Given the description of an element on the screen output the (x, y) to click on. 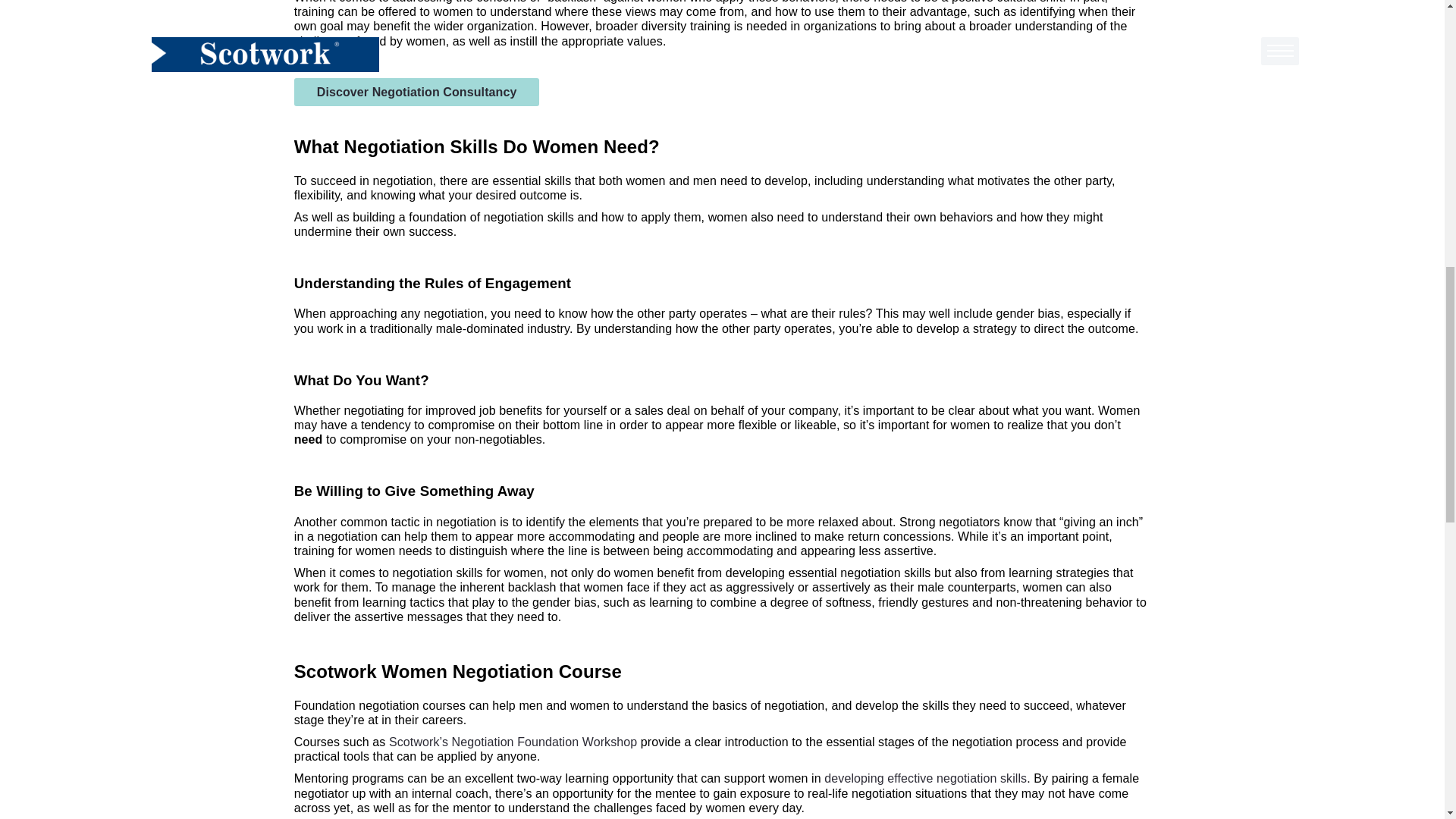
Discover Negotiation Consultancy (416, 91)
developing effective negotiation skills (925, 778)
